Given the description of an element on the screen output the (x, y) to click on. 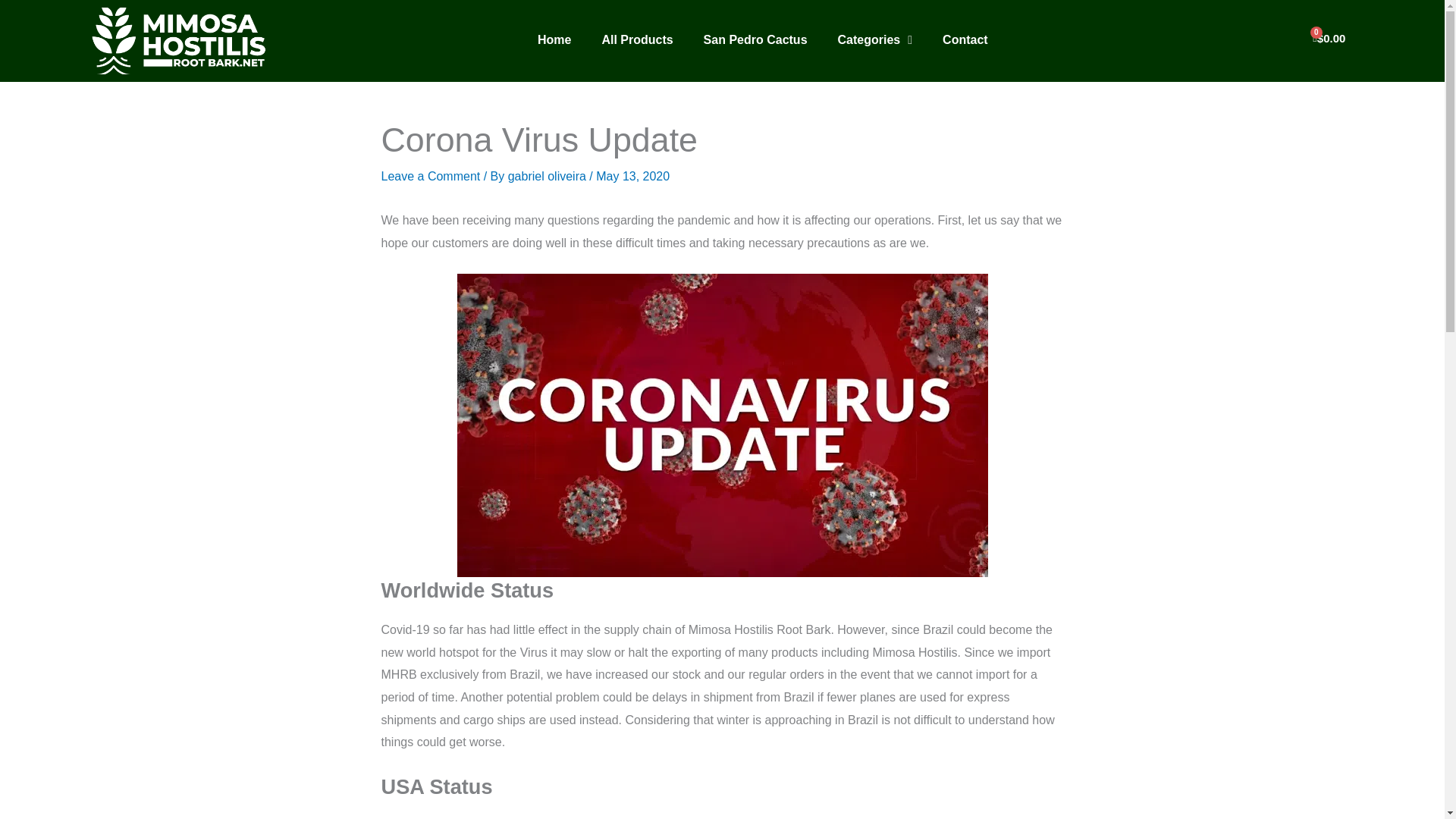
Categories (875, 39)
View all posts by gabriel oliveira (548, 175)
Contact (965, 39)
gabriel oliveira (548, 175)
Home (554, 39)
Leave a Comment (430, 175)
San Pedro Cactus (755, 39)
All Products (636, 39)
